Given the description of an element on the screen output the (x, y) to click on. 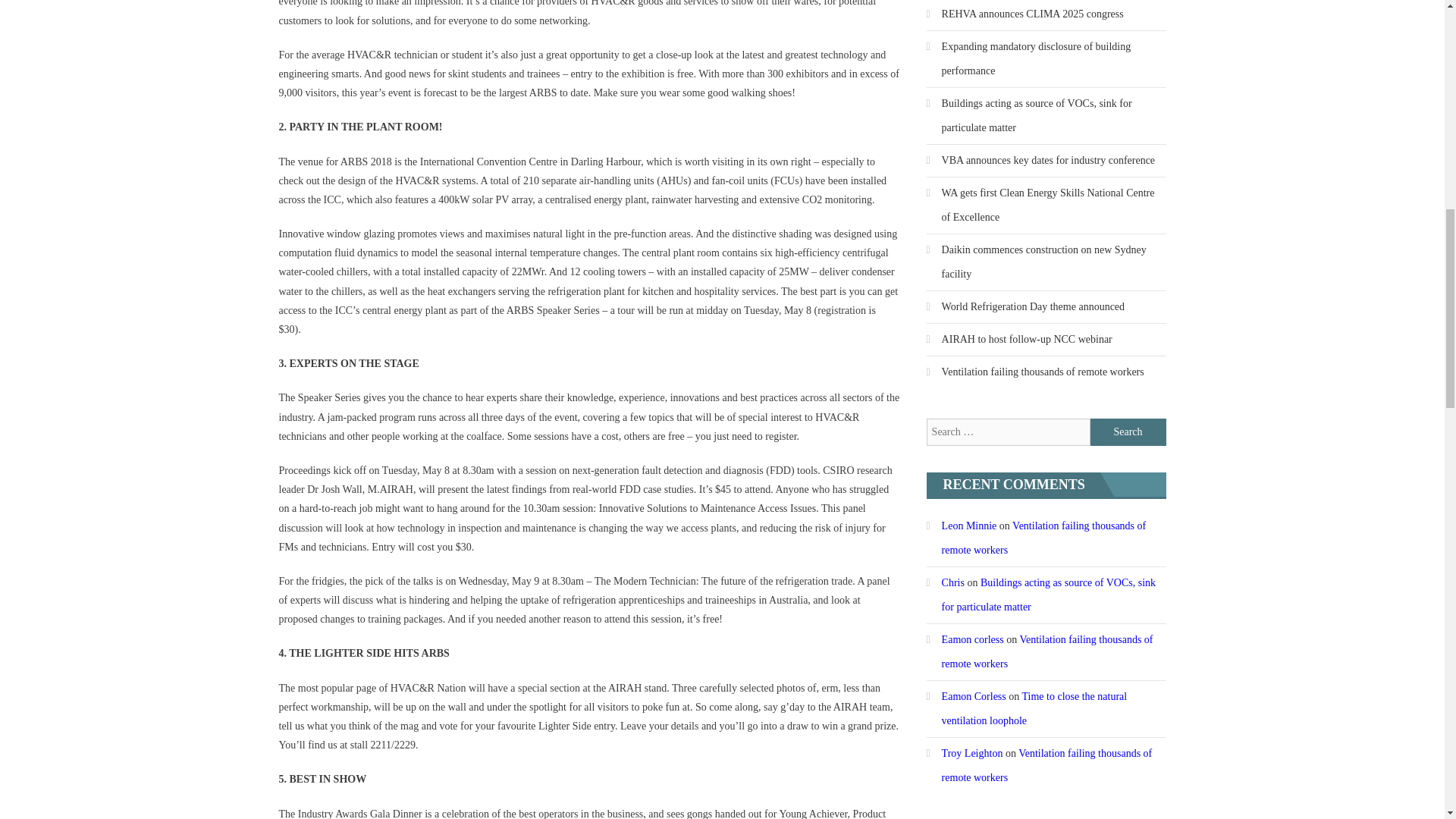
Search (1128, 431)
Search (1128, 431)
